Given the description of an element on the screen output the (x, y) to click on. 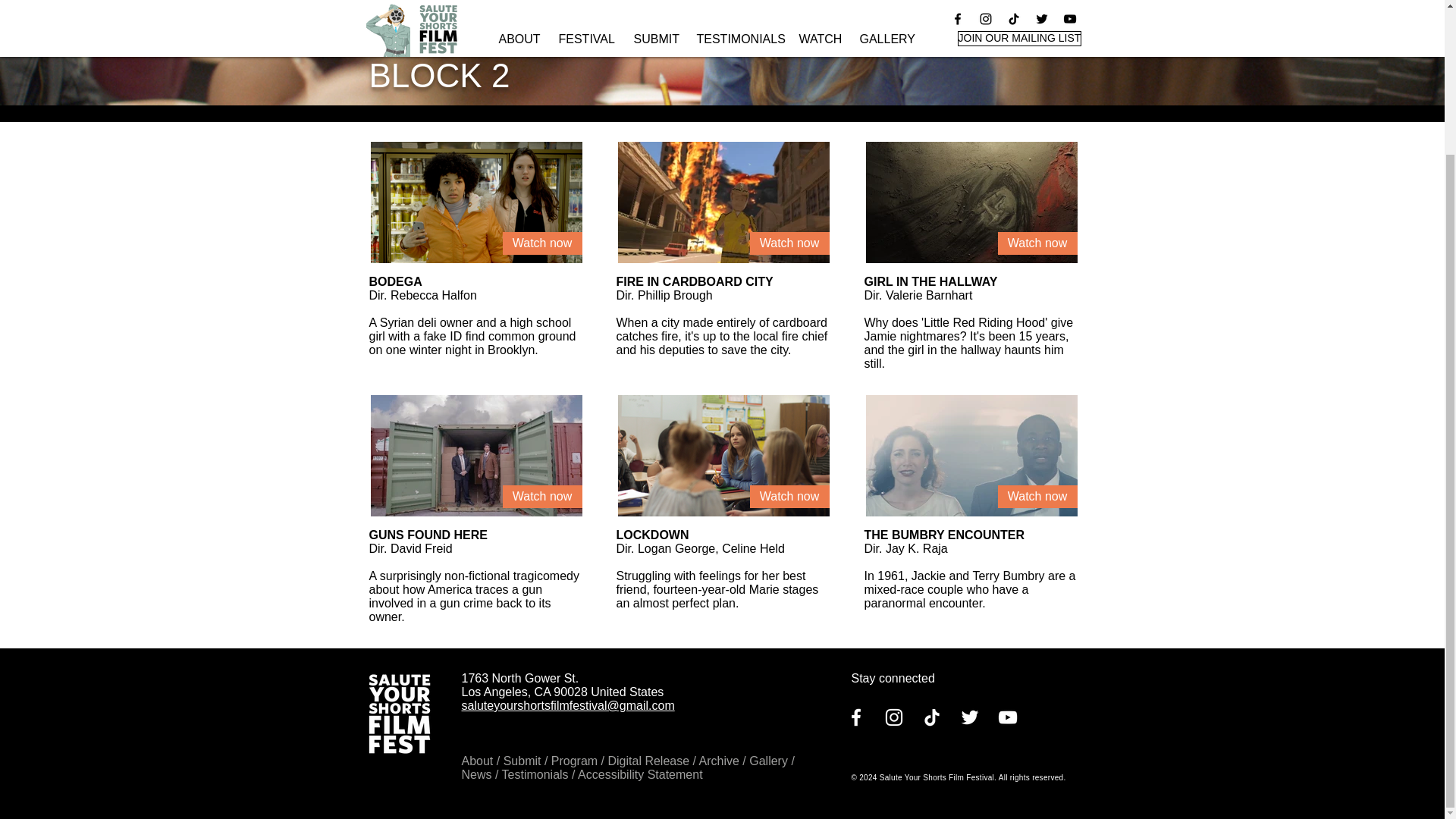
Watch now (788, 496)
GIRL IN THE HALLWAY.jpg (971, 201)
LOCKDOWN.png (722, 455)
Watch now (1037, 242)
fireincardboardcity.jpg (722, 201)
Watch now (541, 242)
THE BUMBRY ENCOUNTER.jpg (971, 455)
Watch now (788, 242)
AT HOME (419, 6)
GUNS FOUND HERE.jpg (474, 455)
